Given the description of an element on the screen output the (x, y) to click on. 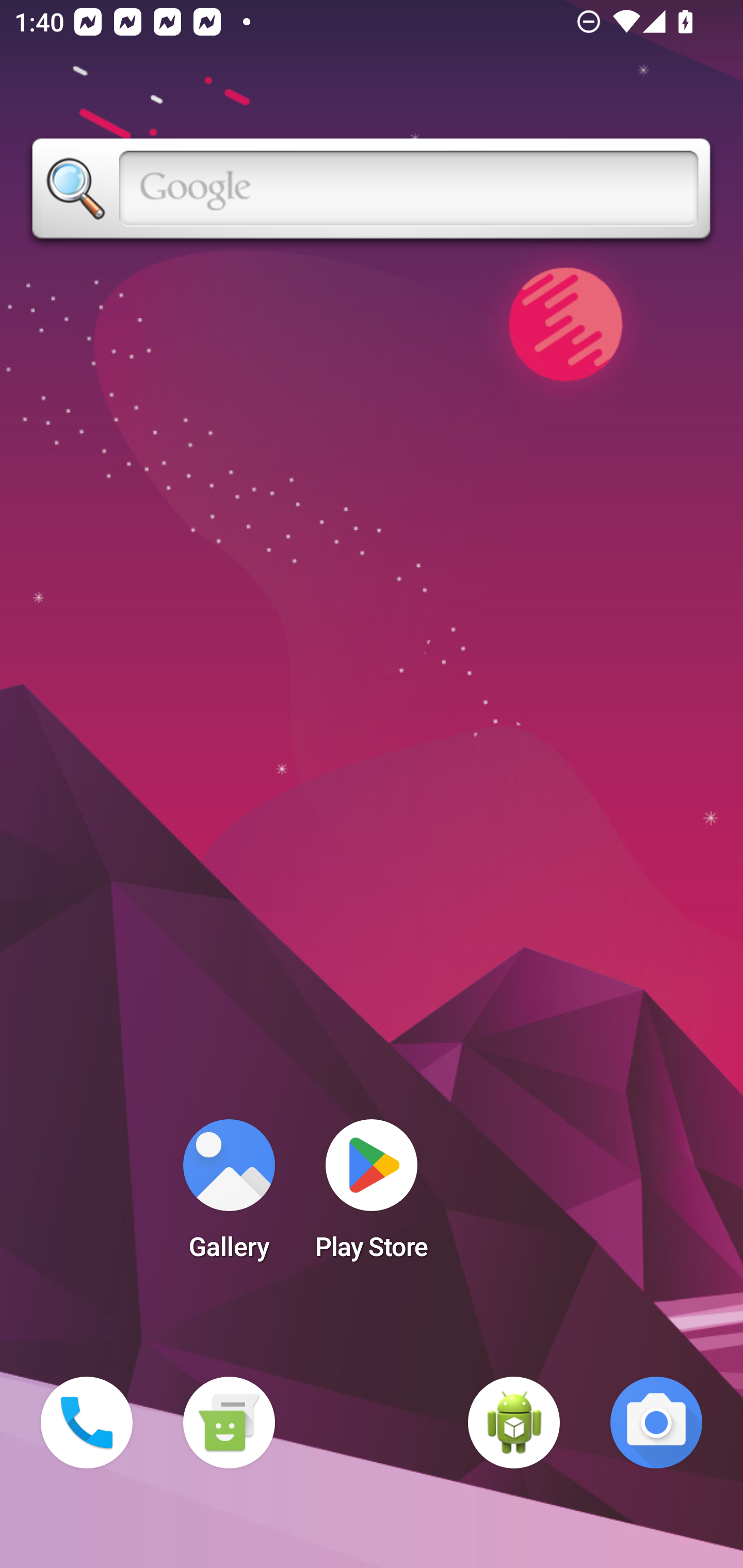
Gallery (228, 1195)
Play Store (371, 1195)
Phone (86, 1422)
Messaging (228, 1422)
WebView Browser Tester (513, 1422)
Camera (656, 1422)
